Given the description of an element on the screen output the (x, y) to click on. 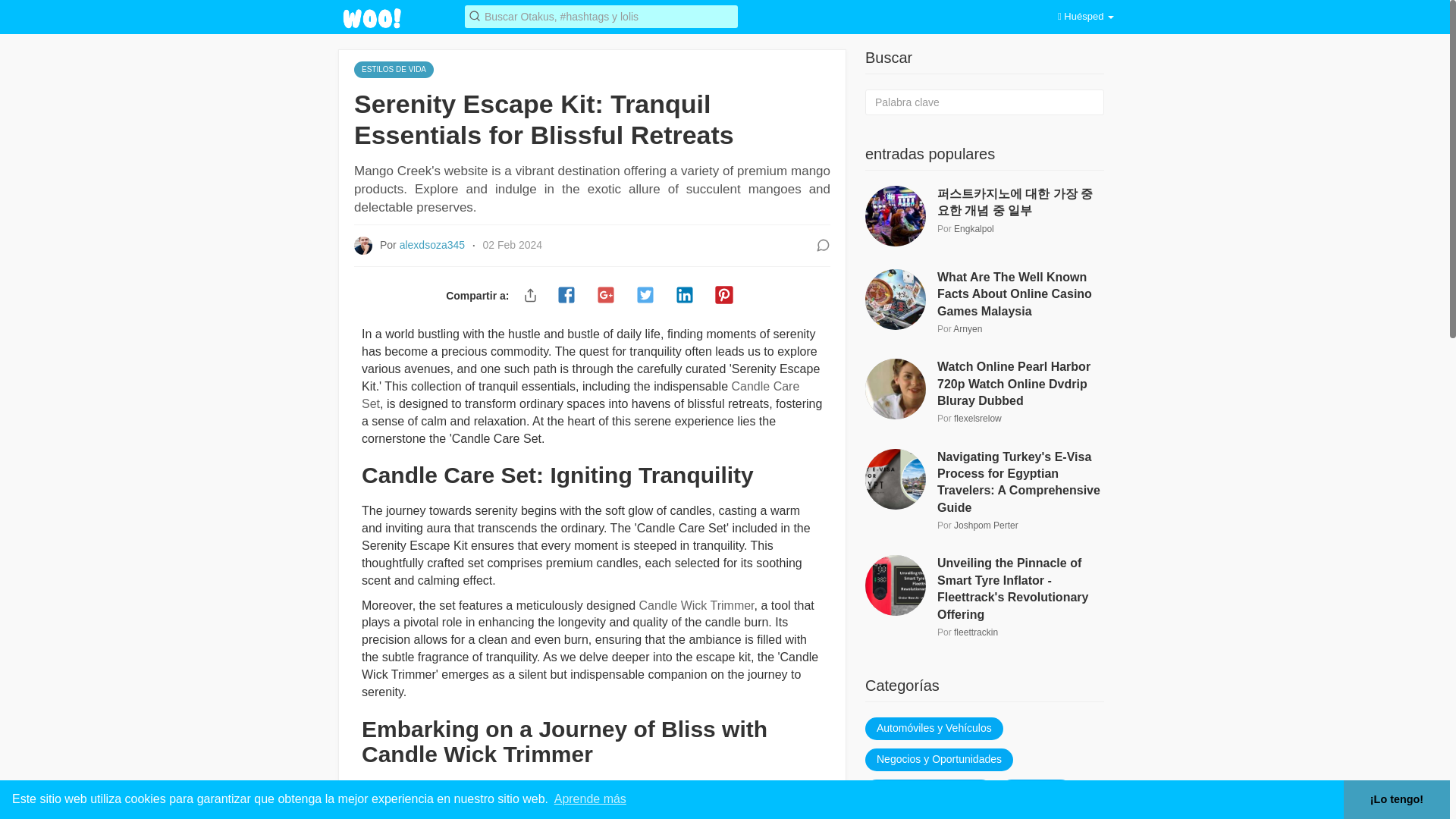
Candle Wick Trimmer (696, 604)
ESTILOS DE VIDA (393, 68)
Engkalpol (973, 228)
alexdsoza345 (432, 244)
Candle Care Set (580, 395)
Arnyen (967, 328)
